Given the description of an element on the screen output the (x, y) to click on. 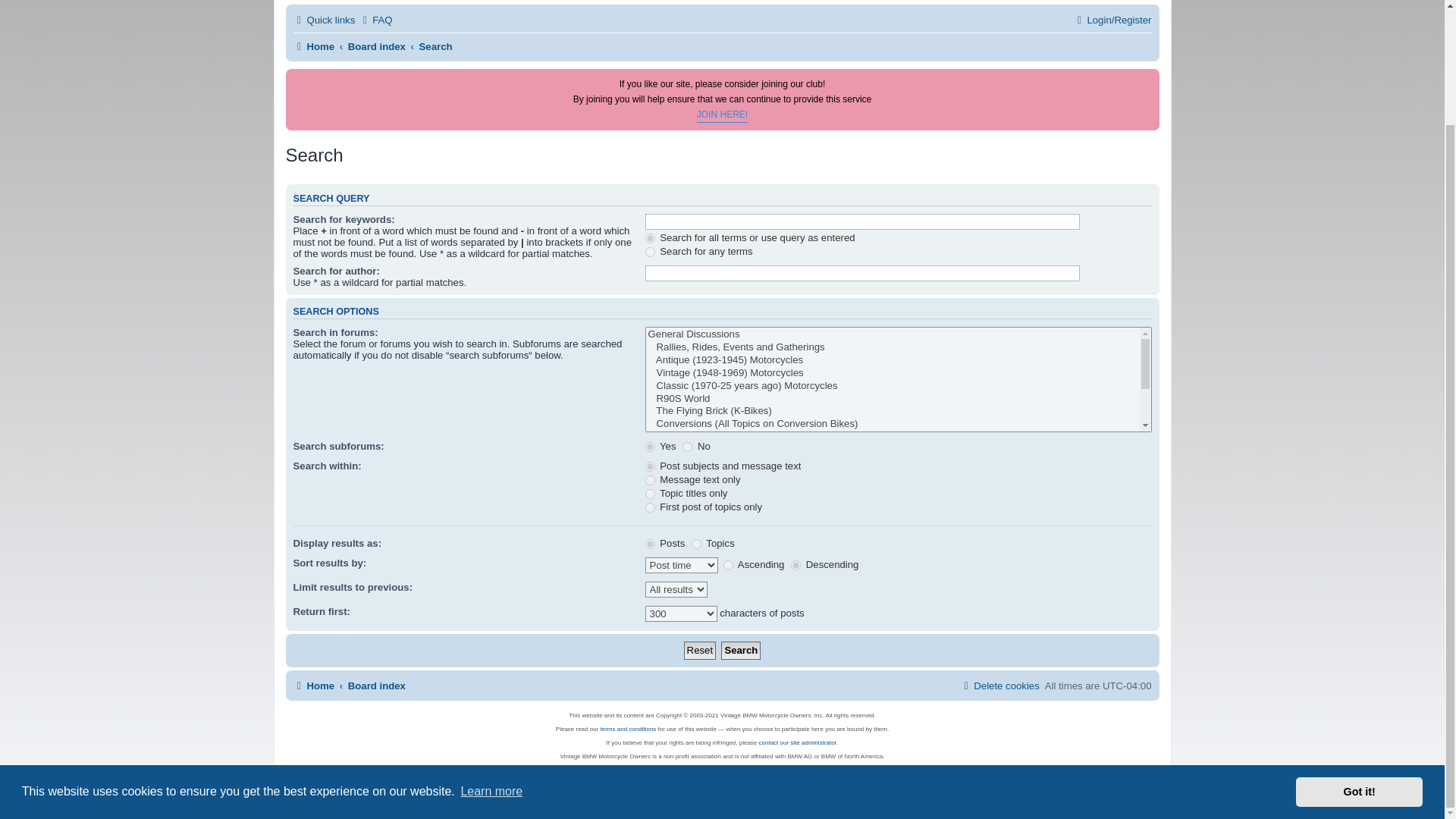
d (795, 565)
Home (313, 46)
all (650, 238)
all (650, 466)
Frequently Asked Questions (374, 20)
firstpost (650, 507)
Got it! (1358, 654)
a (728, 565)
1 (650, 447)
0 (687, 447)
posts (650, 543)
FAQ (374, 20)
Learn more (491, 654)
any (650, 252)
Search (435, 46)
